Given the description of an element on the screen output the (x, y) to click on. 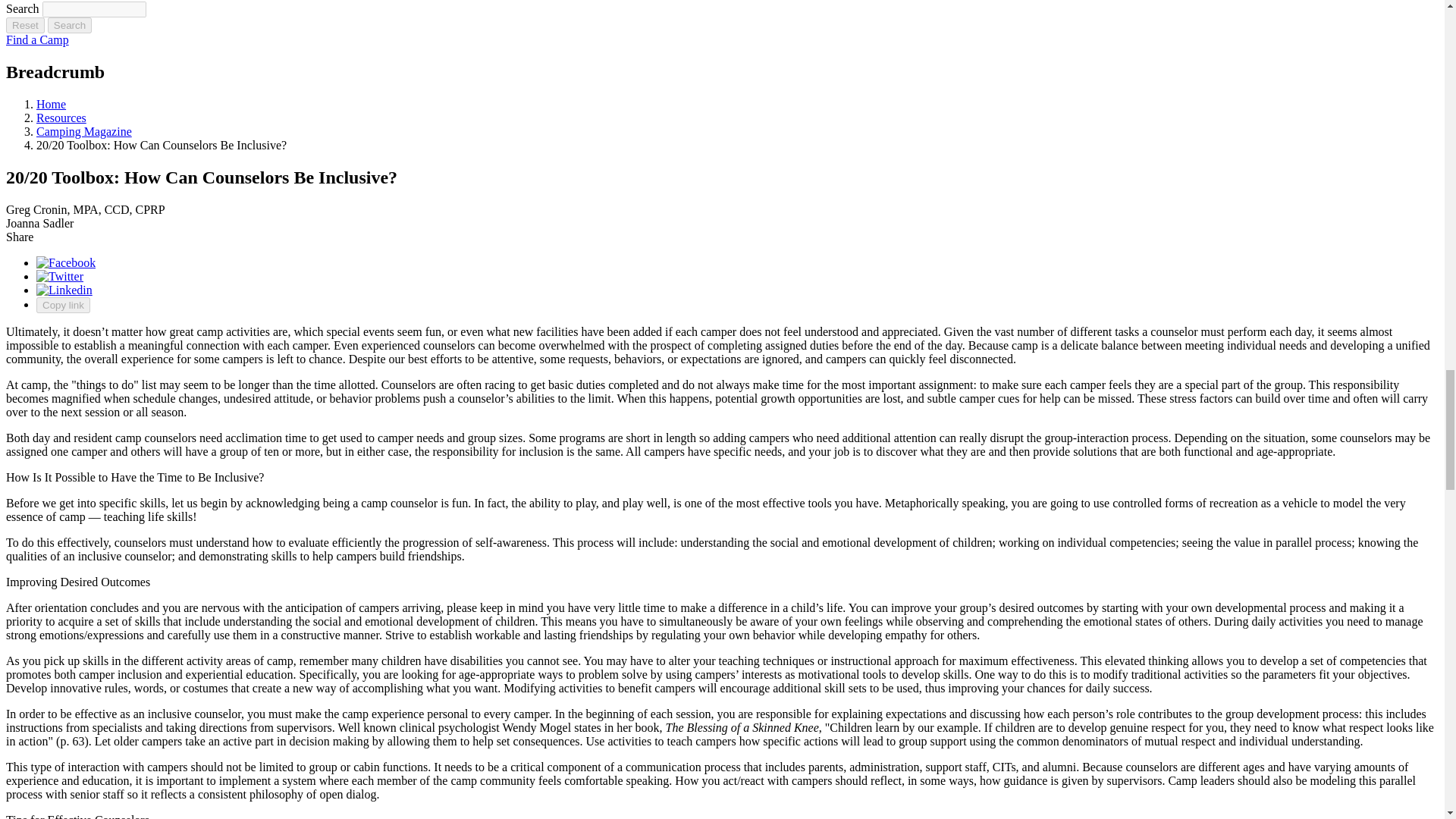
Reset (25, 25)
Search (69, 25)
Search (94, 9)
Copy link (63, 304)
Facebook (66, 262)
Linkedin (64, 289)
Twitter (59, 276)
